Given the description of an element on the screen output the (x, y) to click on. 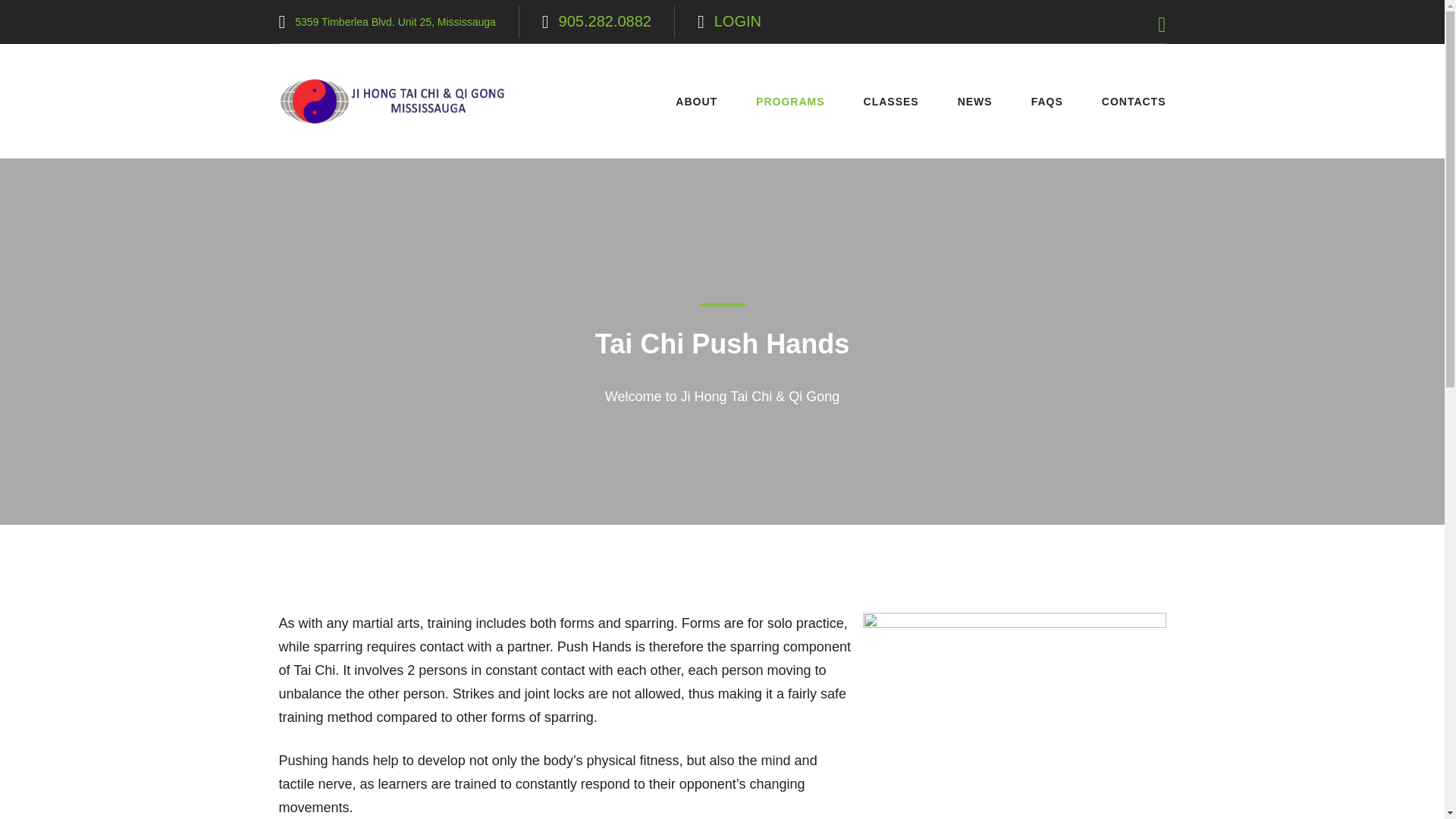
NEWS (981, 101)
LOGIN (737, 20)
ABOUT (702, 101)
CLASSES (896, 101)
PROGRAMS (795, 101)
5359 Timberlea Blvd. Unit 25, Mississauga (395, 22)
905.282.0882 (604, 20)
FAQS (1052, 101)
